Given the description of an element on the screen output the (x, y) to click on. 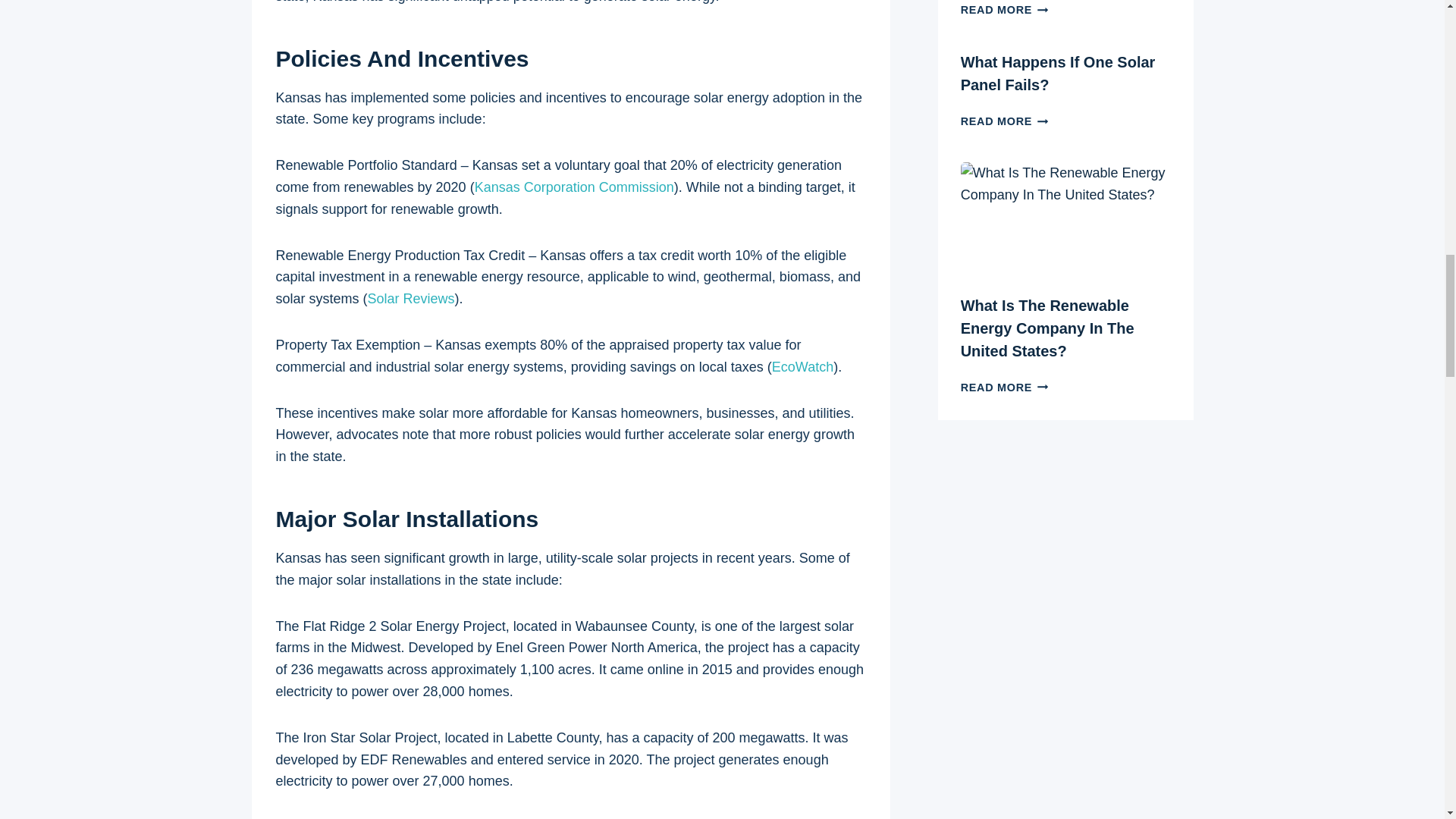
EcoWatch (801, 366)
Kansas Corporation Commission (574, 186)
Solar Reviews (411, 298)
